Given the description of an element on the screen output the (x, y) to click on. 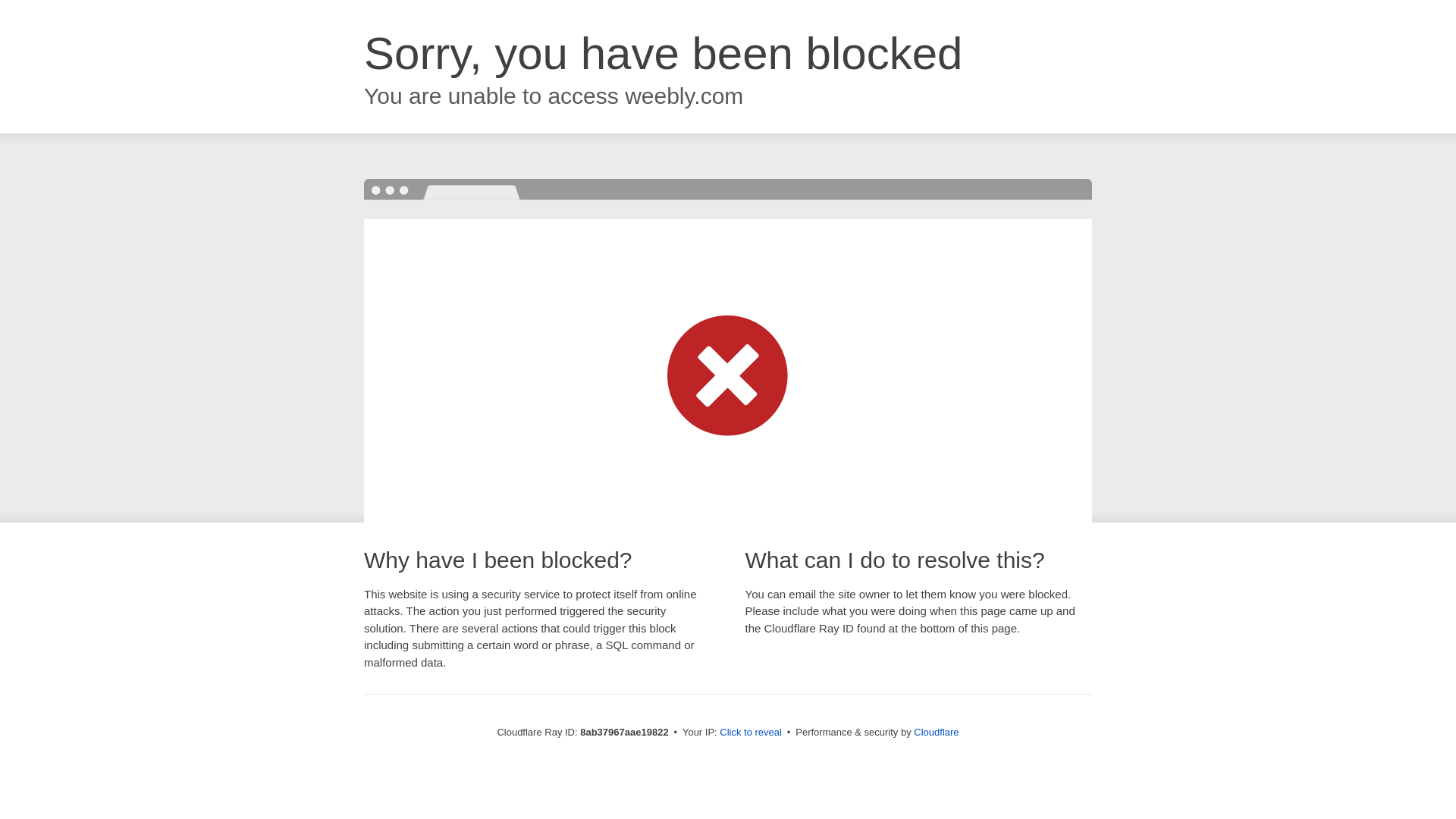
Click to reveal (750, 732)
Cloudflare (936, 731)
